Given the description of an element on the screen output the (x, y) to click on. 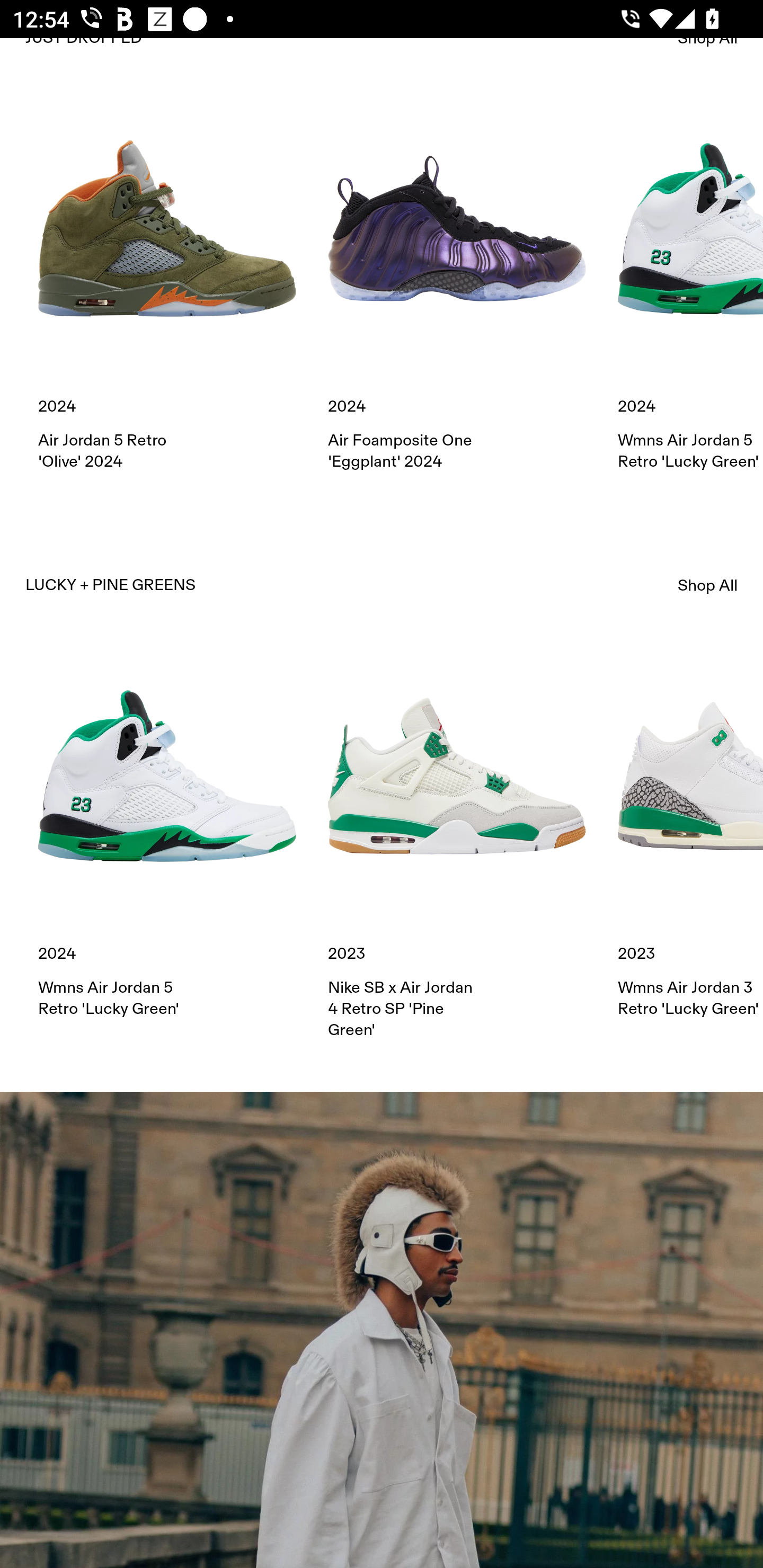
2024 Air Jordan 5 Retro 'Olive' 2024 (167, 285)
2024 Air Foamposite One 'Eggplant' 2024 (456, 285)
2024 Wmns Air Jordan 5 Retro 'Lucky Green' (690, 285)
Shop All (707, 584)
2024 Wmns Air Jordan 5 Retro 'Lucky Green' (167, 832)
2023 Nike SB x Air Jordan 4 Retro SP 'Pine Green' (456, 843)
2023 Wmns Air Jordan 3 Retro 'Lucky Green' (690, 832)
